Given the description of an element on the screen output the (x, y) to click on. 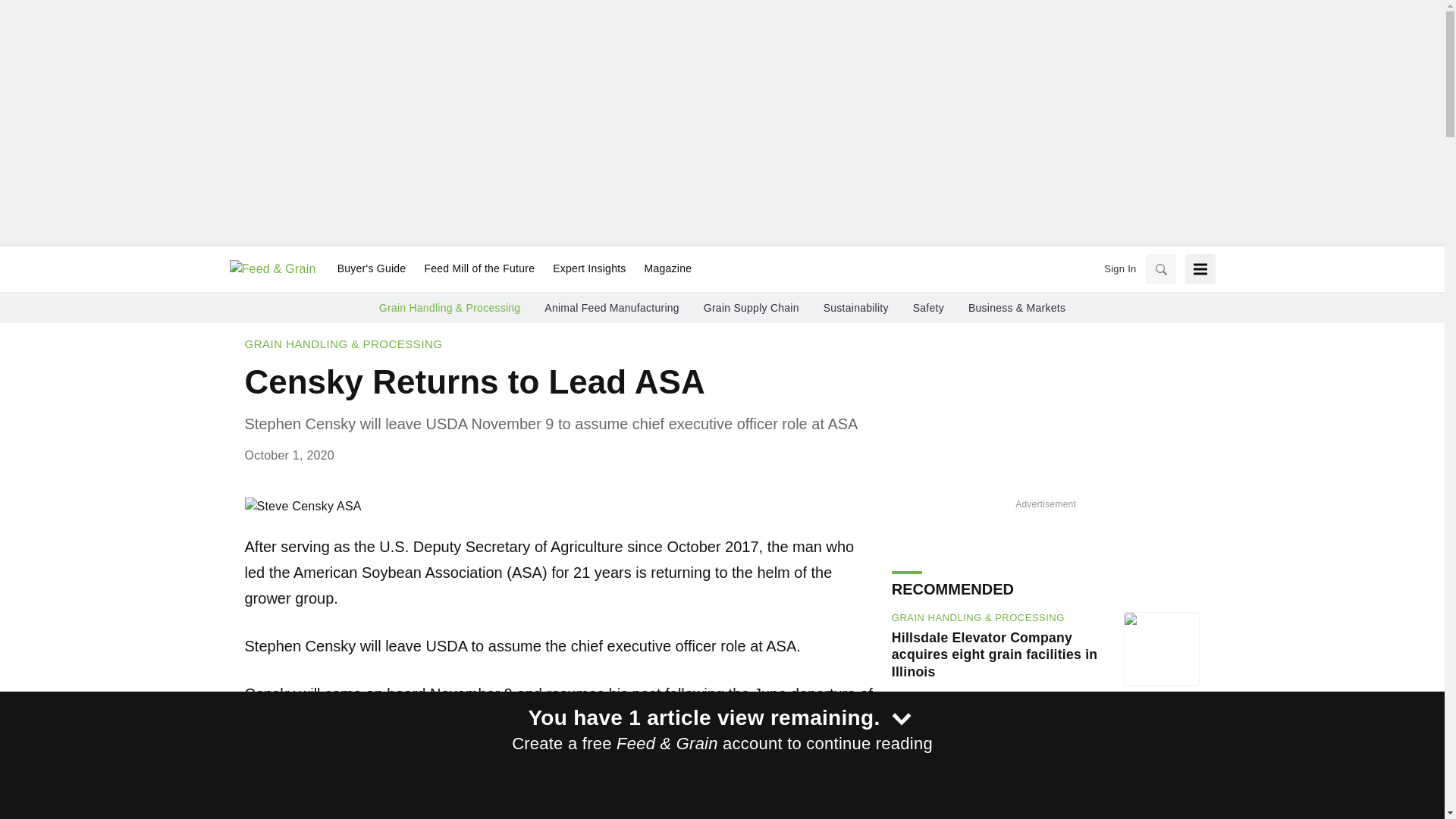
Magazine (663, 269)
Grain Supply Chain (751, 307)
Safety (927, 307)
Feed Mill of the Future (478, 269)
Animal Feed Manufacturing (611, 307)
Sustainability (856, 307)
Buyer's Guide (371, 269)
Sign In (1119, 268)
Expert Insights (588, 269)
